Given the description of an element on the screen output the (x, y) to click on. 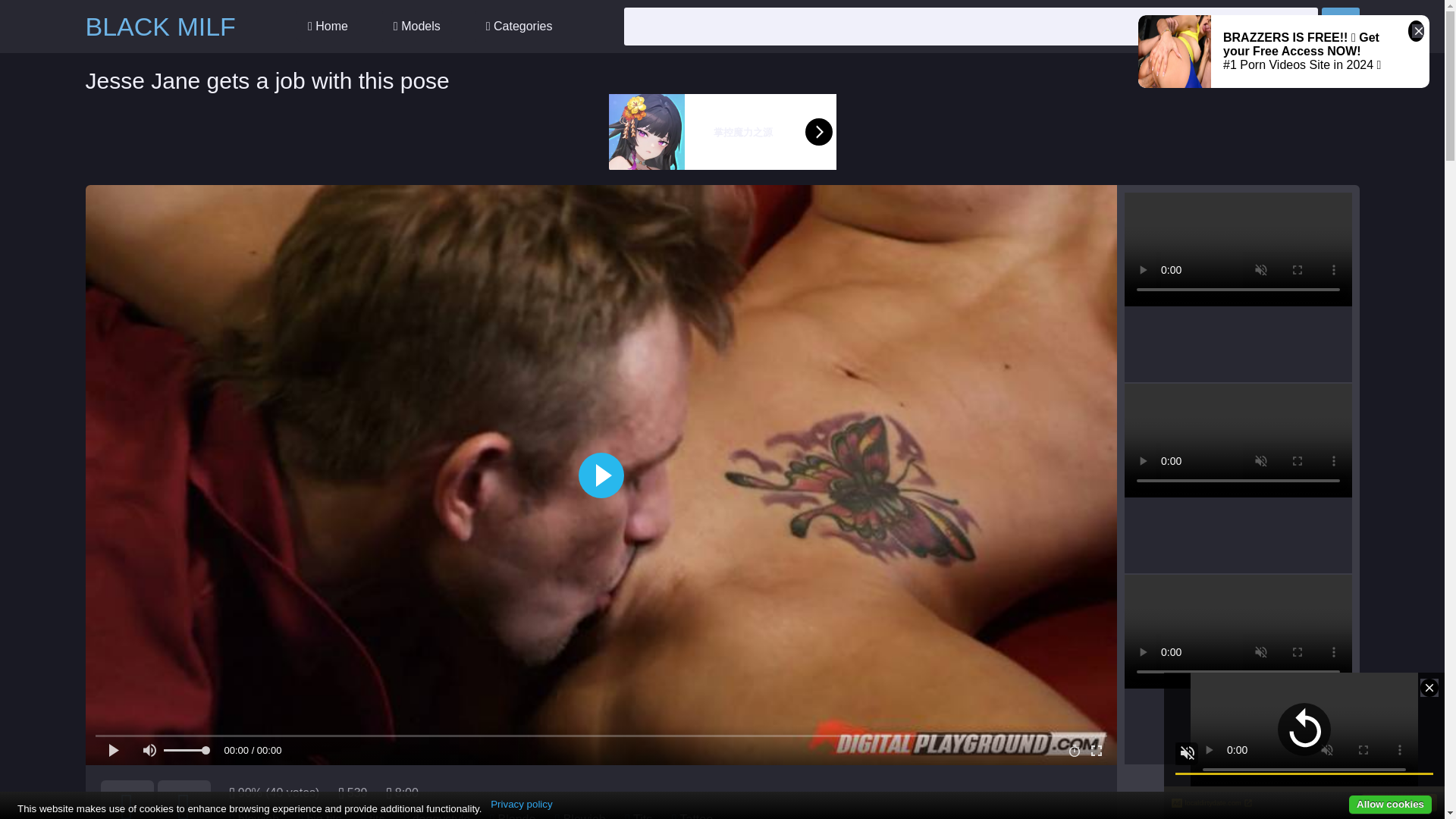
tits (376, 816)
Tits (642, 816)
Home (328, 26)
BLACK MILF (159, 26)
Blowjob (584, 816)
blowjob (258, 816)
Categories (519, 26)
Models (416, 26)
big tits (322, 816)
Search (1339, 26)
doggystyle (441, 816)
Tattoo (696, 816)
Dislike! (184, 799)
Like! (126, 799)
Blonde (516, 816)
